Given the description of an element on the screen output the (x, y) to click on. 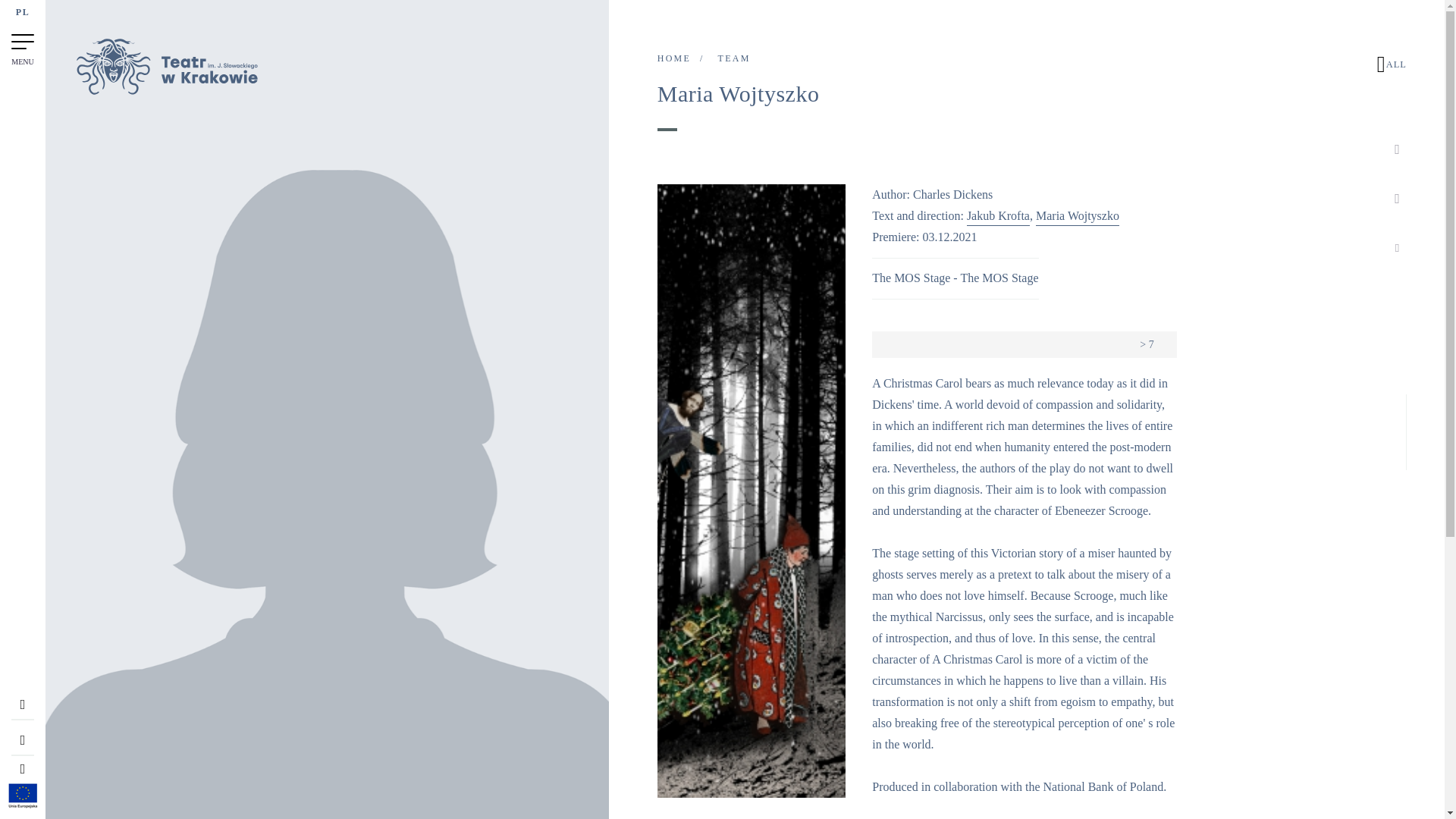
logo-title (166, 91)
Search (22, 772)
PL (22, 15)
Facebook (1396, 149)
Youtube (1396, 246)
Instagram (1396, 198)
MENU (22, 47)
